Given the description of an element on the screen output the (x, y) to click on. 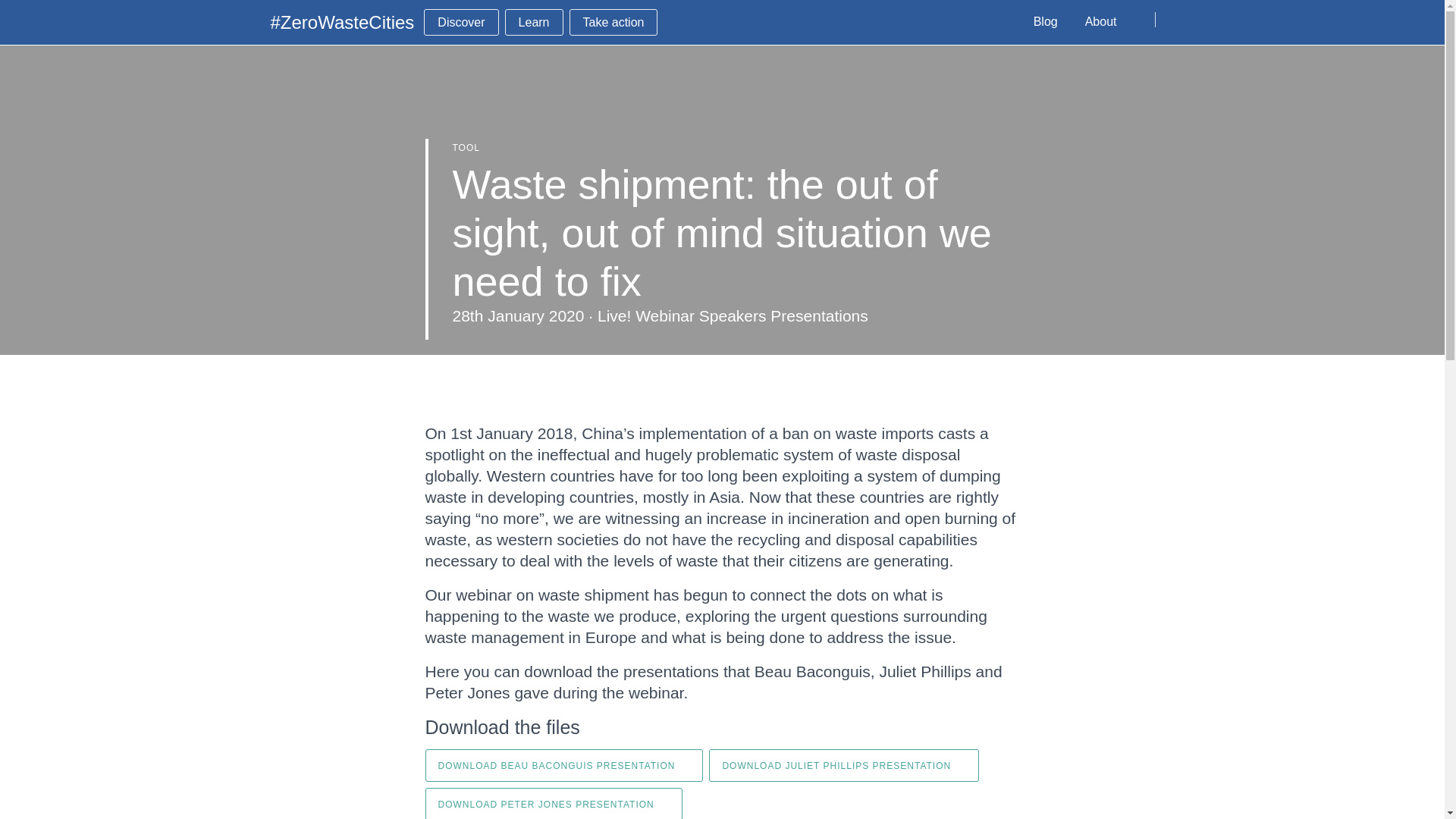
Discover (460, 22)
Our webinar on waste shipment (536, 594)
webinar. (657, 692)
Learn (534, 22)
DOWNLOAD JULIET PHILLIPS PRESENTATION (843, 765)
About (1101, 22)
DOWNLOAD BEAU BACONGUIS PRESENTATION (564, 765)
Blog (1046, 22)
DOWNLOAD PETER JONES PRESENTATION (553, 803)
Take action (613, 22)
